Given the description of an element on the screen output the (x, y) to click on. 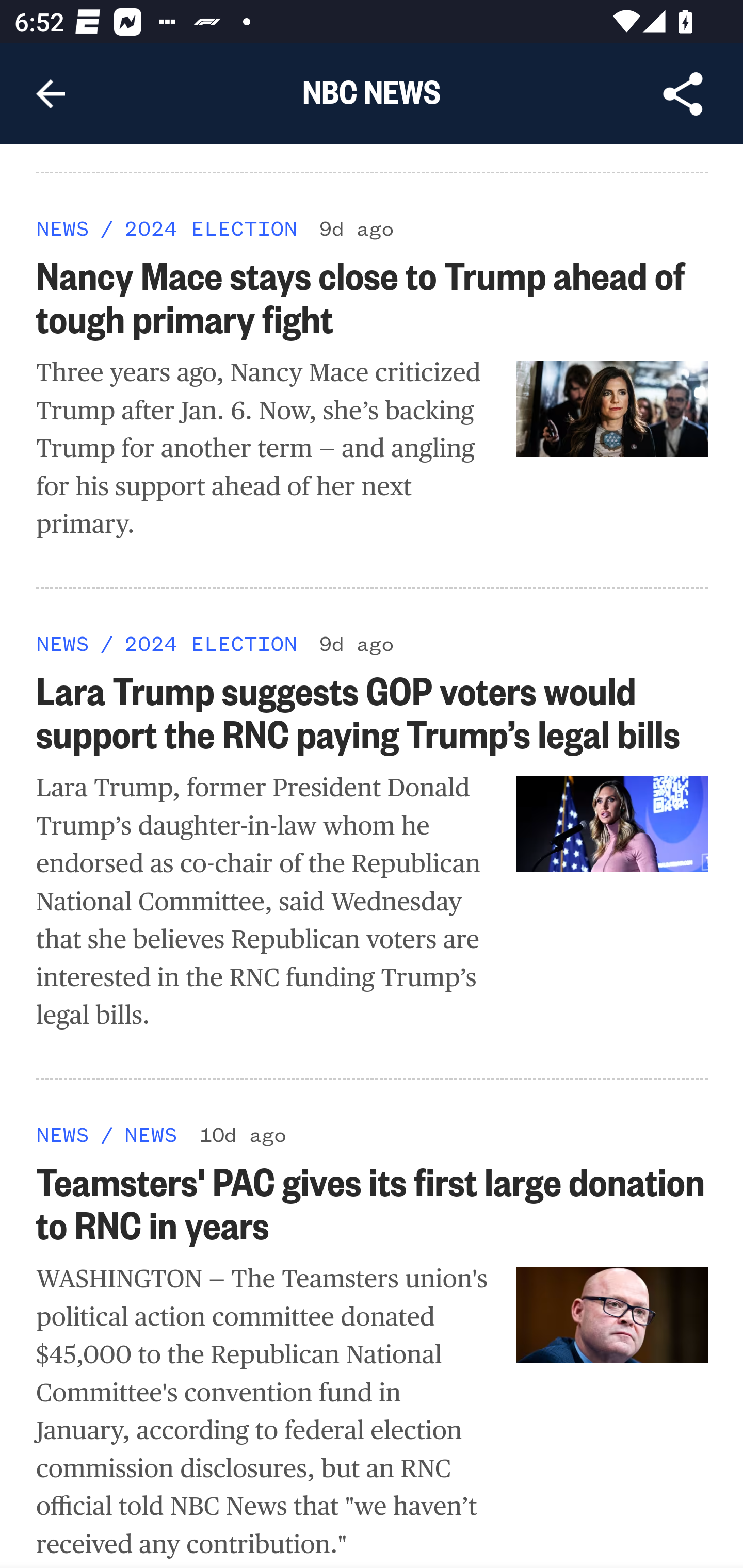
Navigate up (50, 93)
Share Article, button (683, 94)
NEWS NEWS NEWS (63, 229)
2024 ELECTION 2024 ELECTION 2024 ELECTION (209, 229)
NEWS NEWS NEWS (63, 644)
2024 ELECTION 2024 ELECTION 2024 ELECTION (209, 644)
NEWS NEWS NEWS (63, 1135)
NEWS NEWS NEWS (150, 1135)
